Given the description of an element on the screen output the (x, y) to click on. 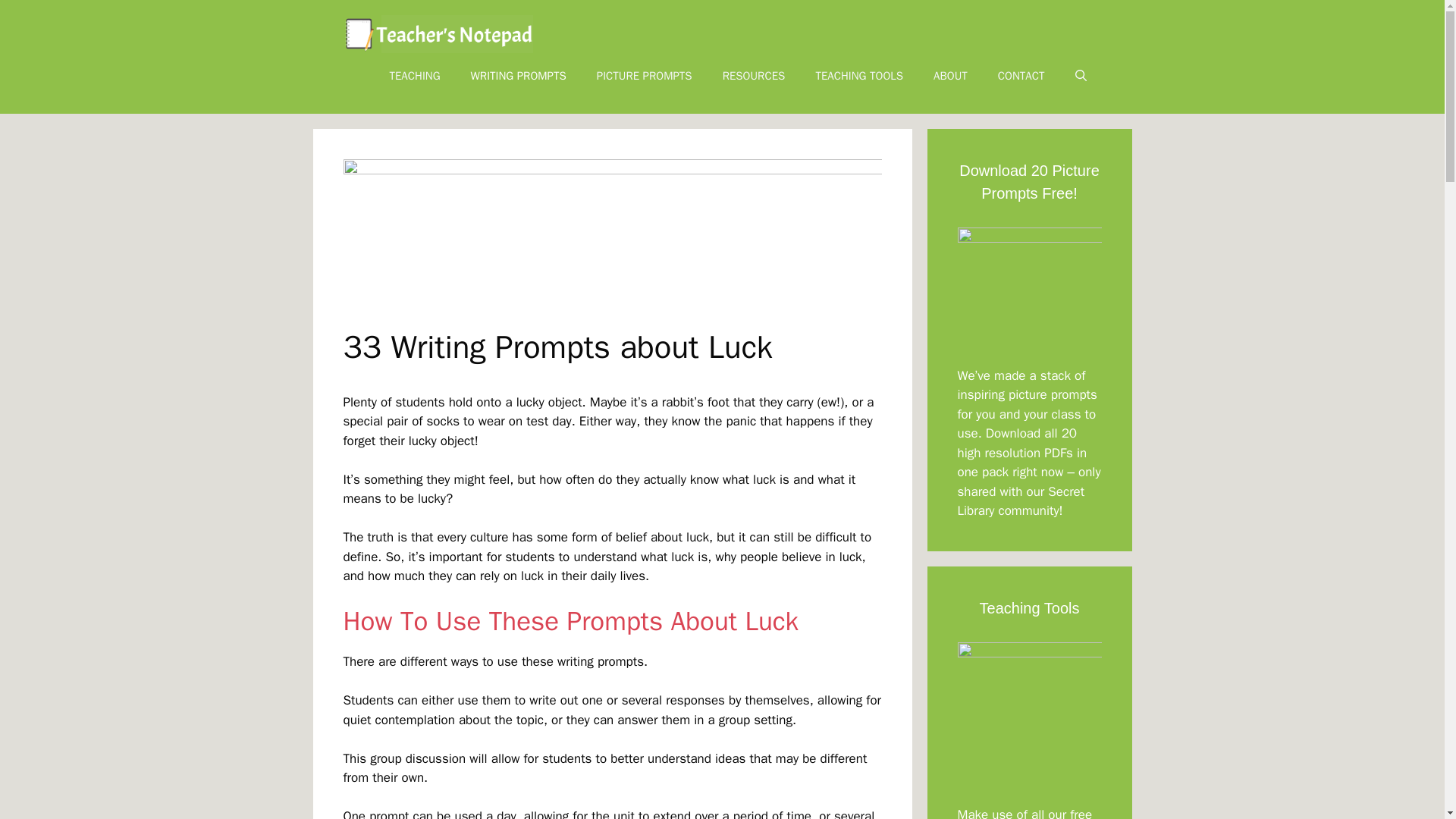
PICTURE PROMPTS (643, 75)
TEACHING TOOLS (858, 75)
WRITING PROMPTS (517, 75)
ABOUT (950, 75)
TEACHING (414, 75)
RESOURCES (753, 75)
CONTACT (1020, 75)
